Given the description of an element on the screen output the (x, y) to click on. 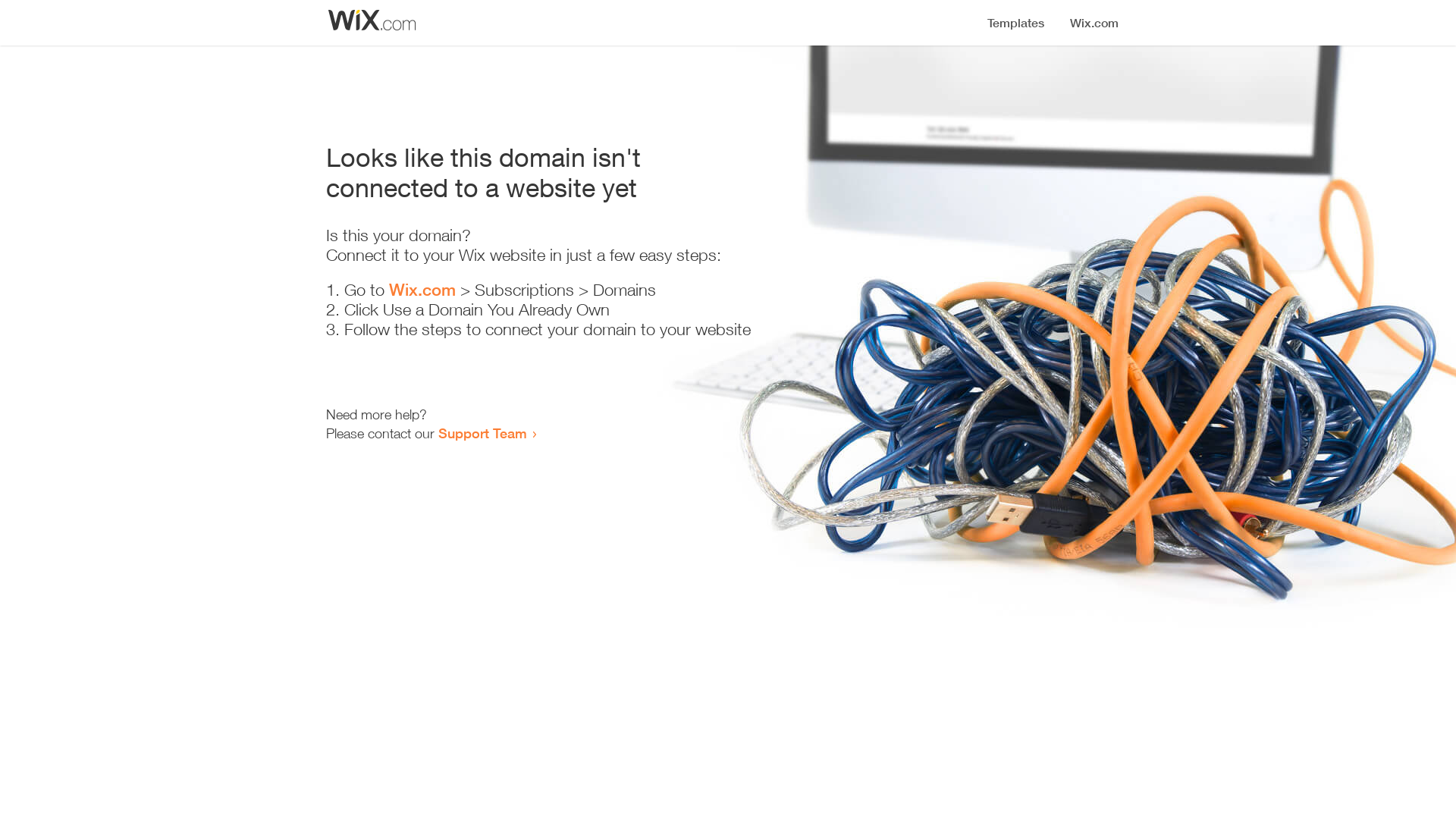
Support Team Element type: text (482, 432)
Wix.com Element type: text (422, 289)
